Given the description of an element on the screen output the (x, y) to click on. 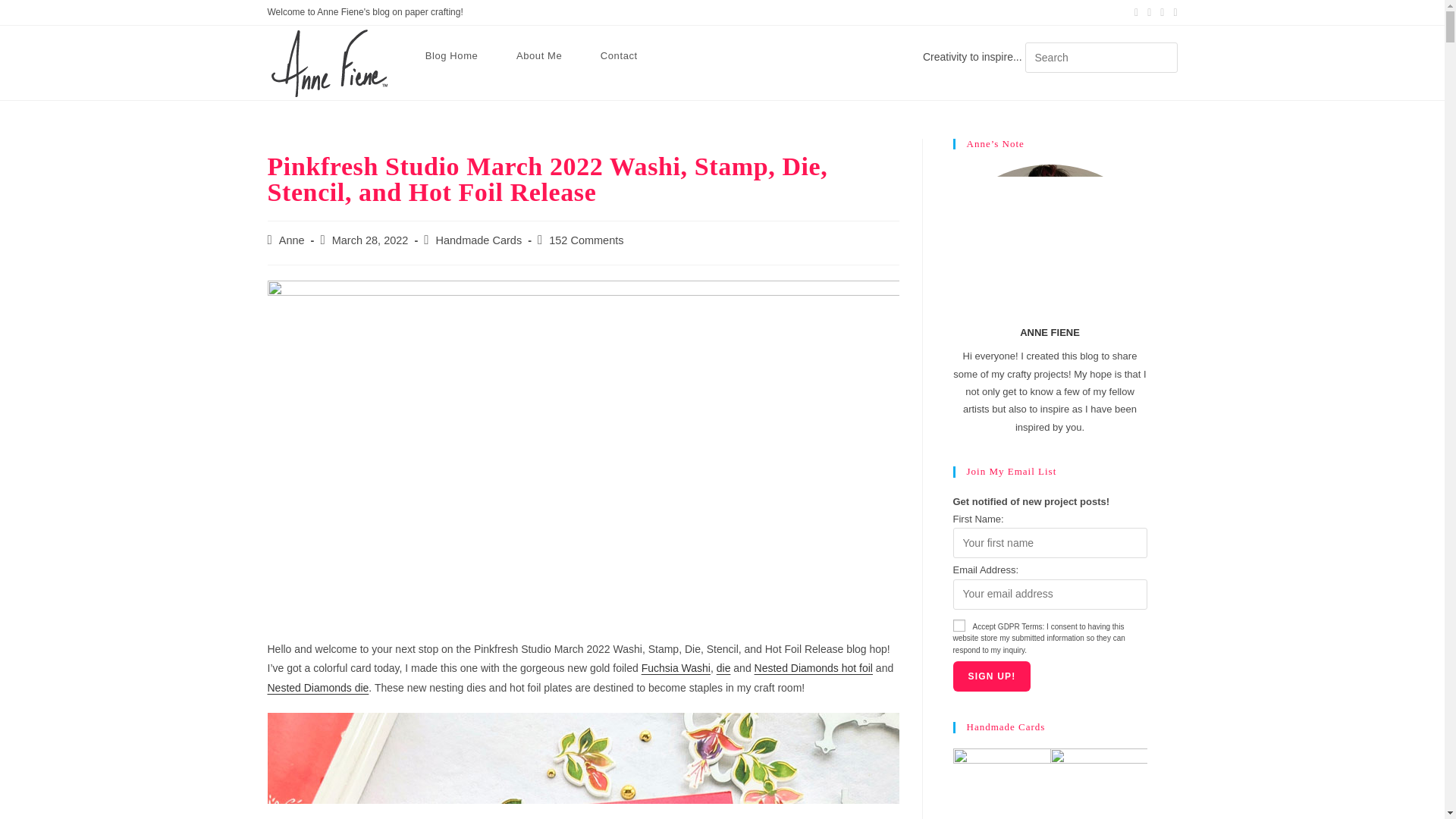
die (723, 667)
Fuchsia Washi (676, 667)
About Me (538, 55)
Posts by Anne (291, 240)
Nested Diamonds hot foil (813, 667)
Handmade Cards (478, 240)
Contact (618, 55)
152 Comments (585, 240)
Blog Home (451, 55)
Nested Diamonds die (317, 687)
Anne (291, 240)
Sign up! (991, 675)
1 (957, 625)
